Given the description of an element on the screen output the (x, y) to click on. 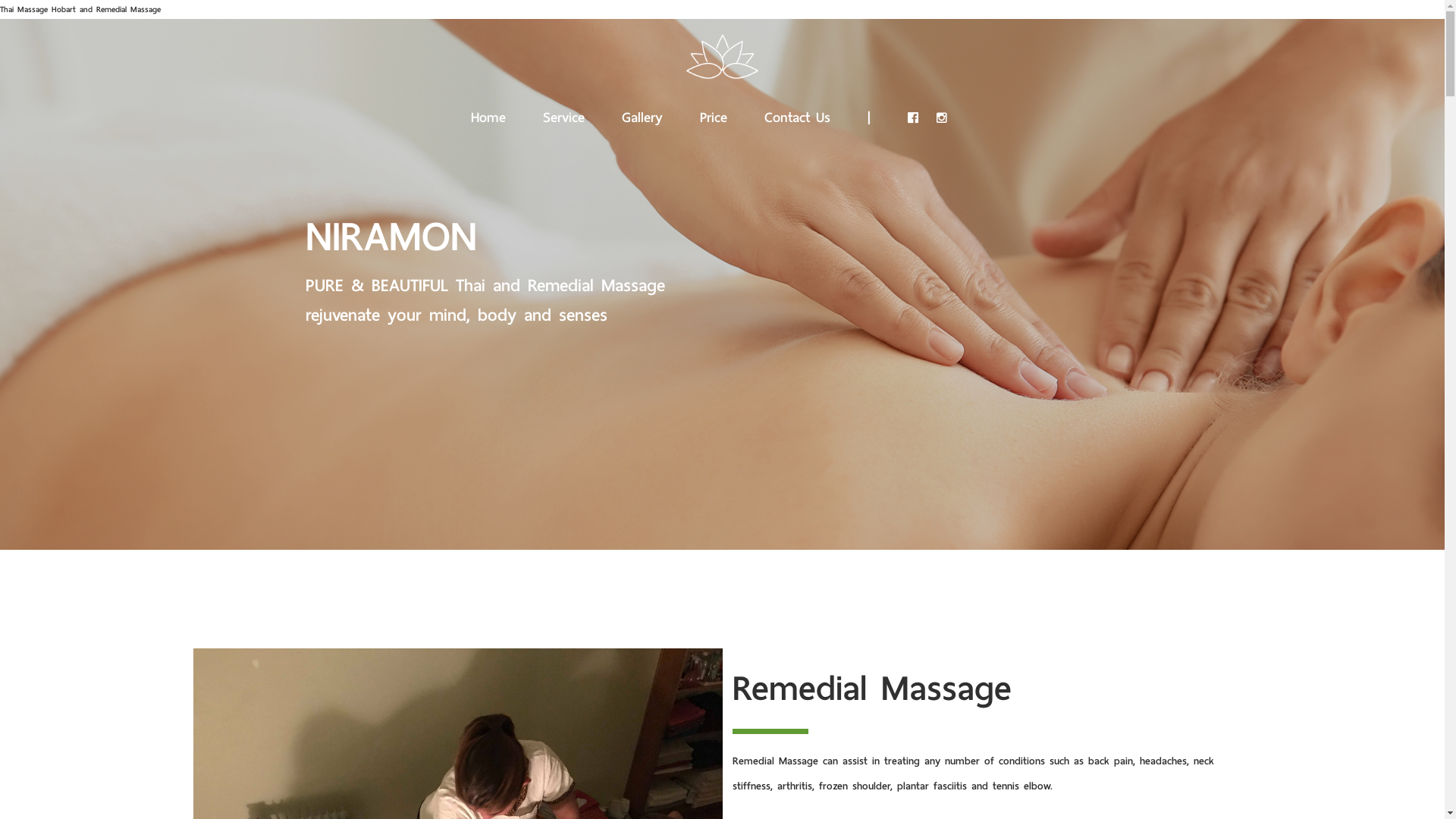
Service Element type: text (563, 113)
Price Element type: text (713, 113)
Contact Us Element type: text (797, 113)
Gallery Element type: text (641, 113)
| Element type: text (868, 113)
Home Element type: text (487, 113)
